Given the description of an element on the screen output the (x, y) to click on. 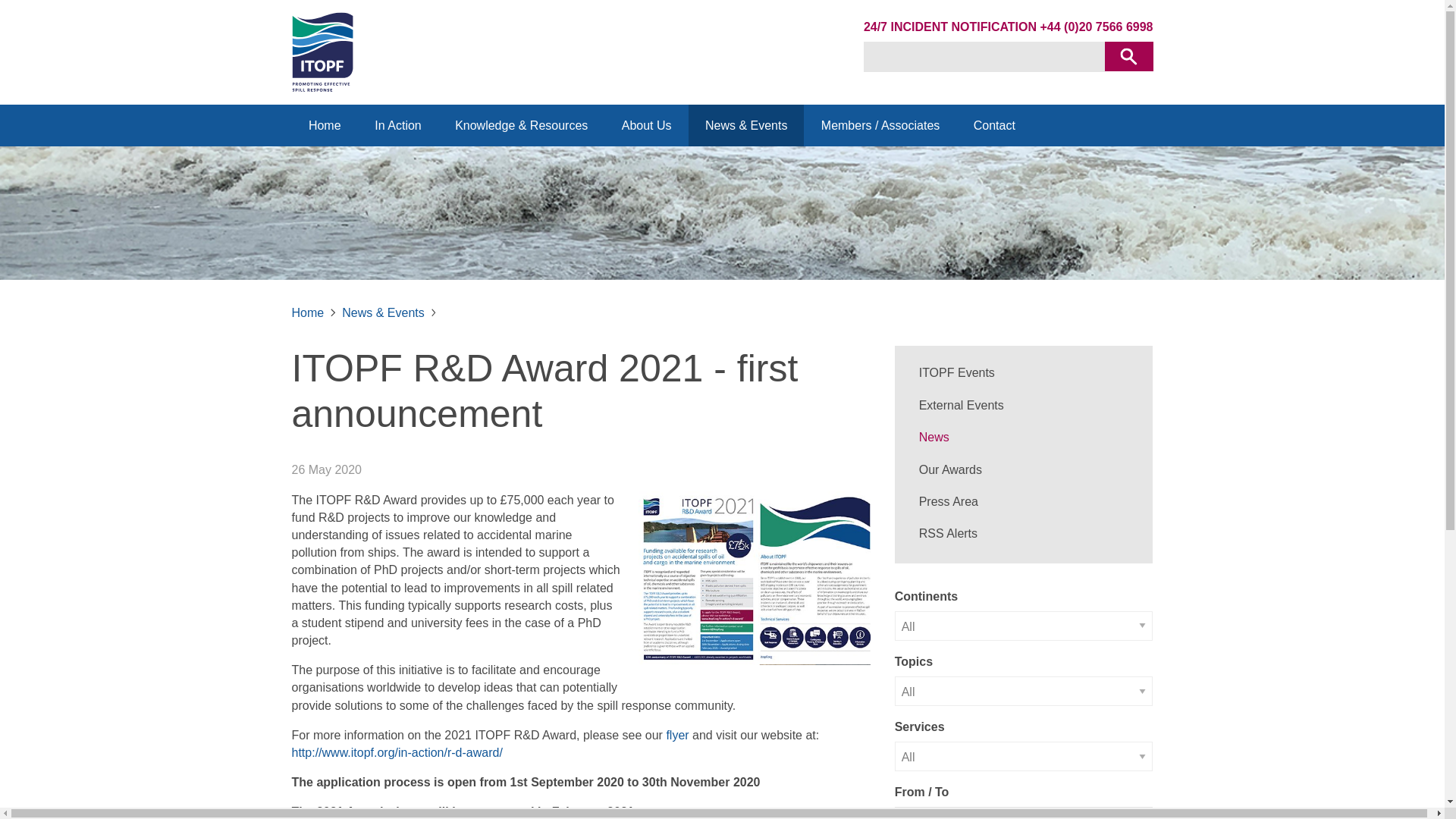
14-01-2014 (1024, 812)
Home (323, 125)
ITOPF - Promoting Effective Spill Response (321, 52)
About Us (645, 125)
Home (323, 125)
In Action (398, 125)
Search (1128, 56)
In Action (398, 125)
